Given the description of an element on the screen output the (x, y) to click on. 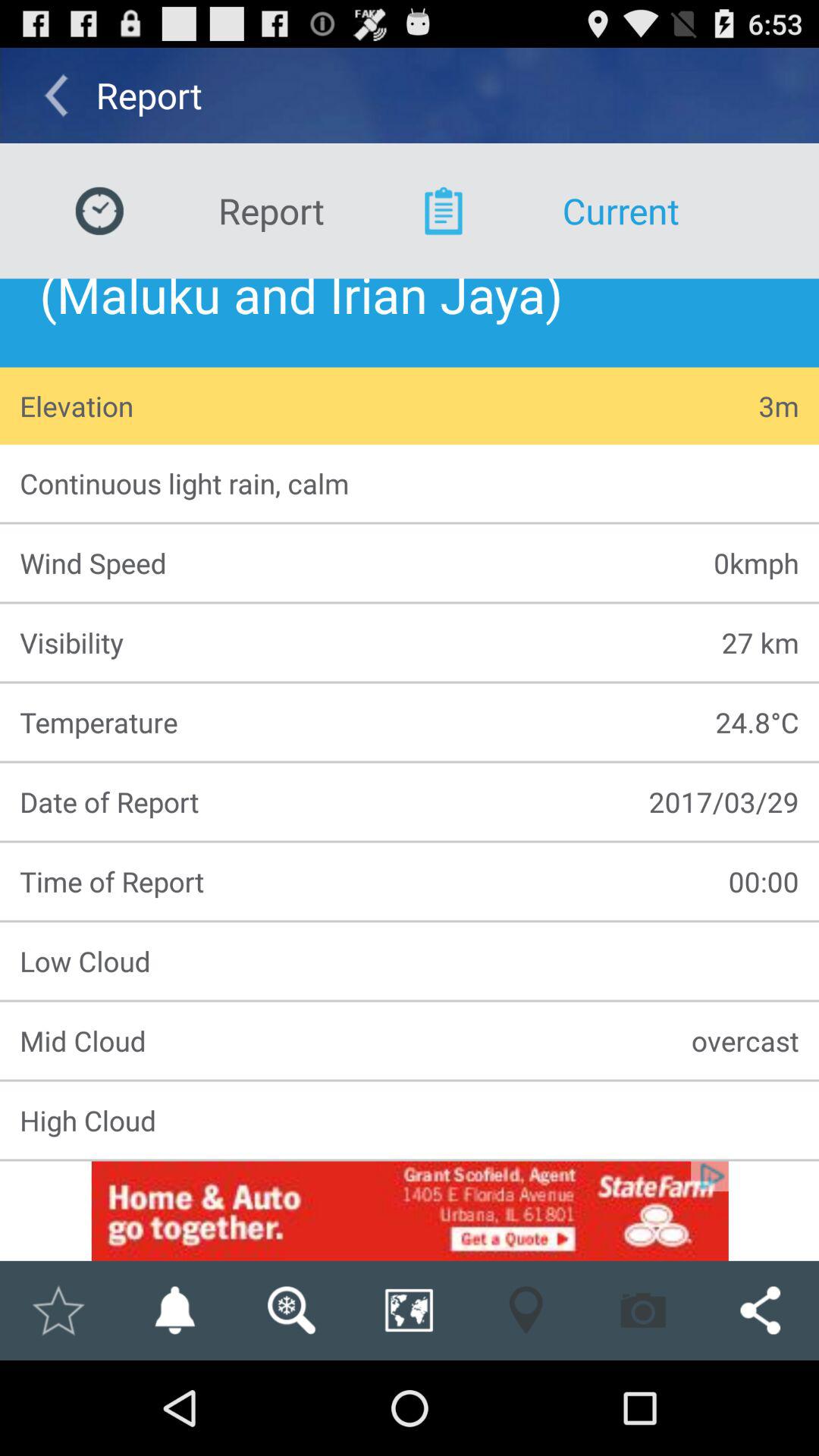
opens the advertisement (409, 1210)
